Given the description of an element on the screen output the (x, y) to click on. 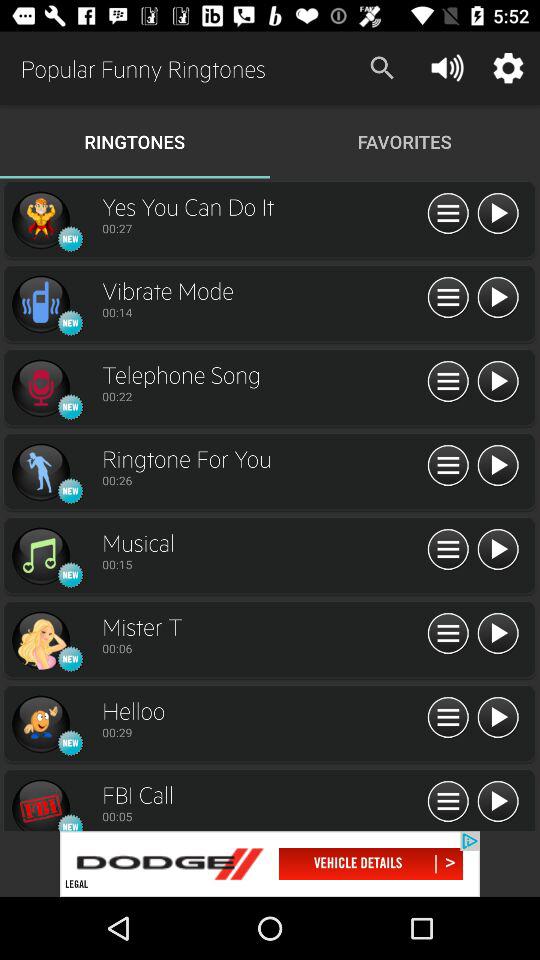
ringtone play button (497, 213)
